Given the description of an element on the screen output the (x, y) to click on. 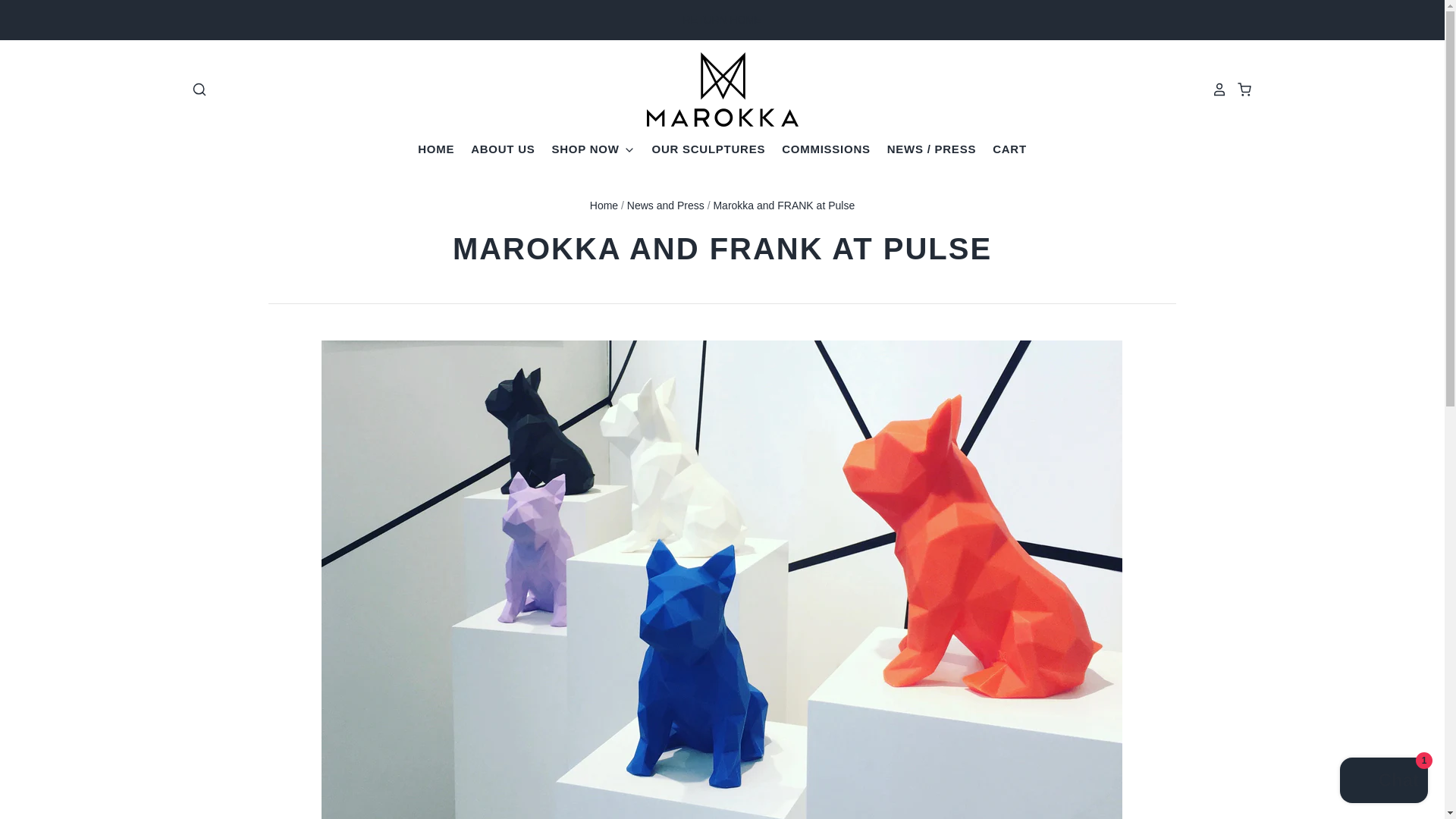
SHOP NOW (585, 148)
Shopify online store chat (1383, 781)
ABOUT US (494, 148)
HOME (435, 148)
